Given the description of an element on the screen output the (x, y) to click on. 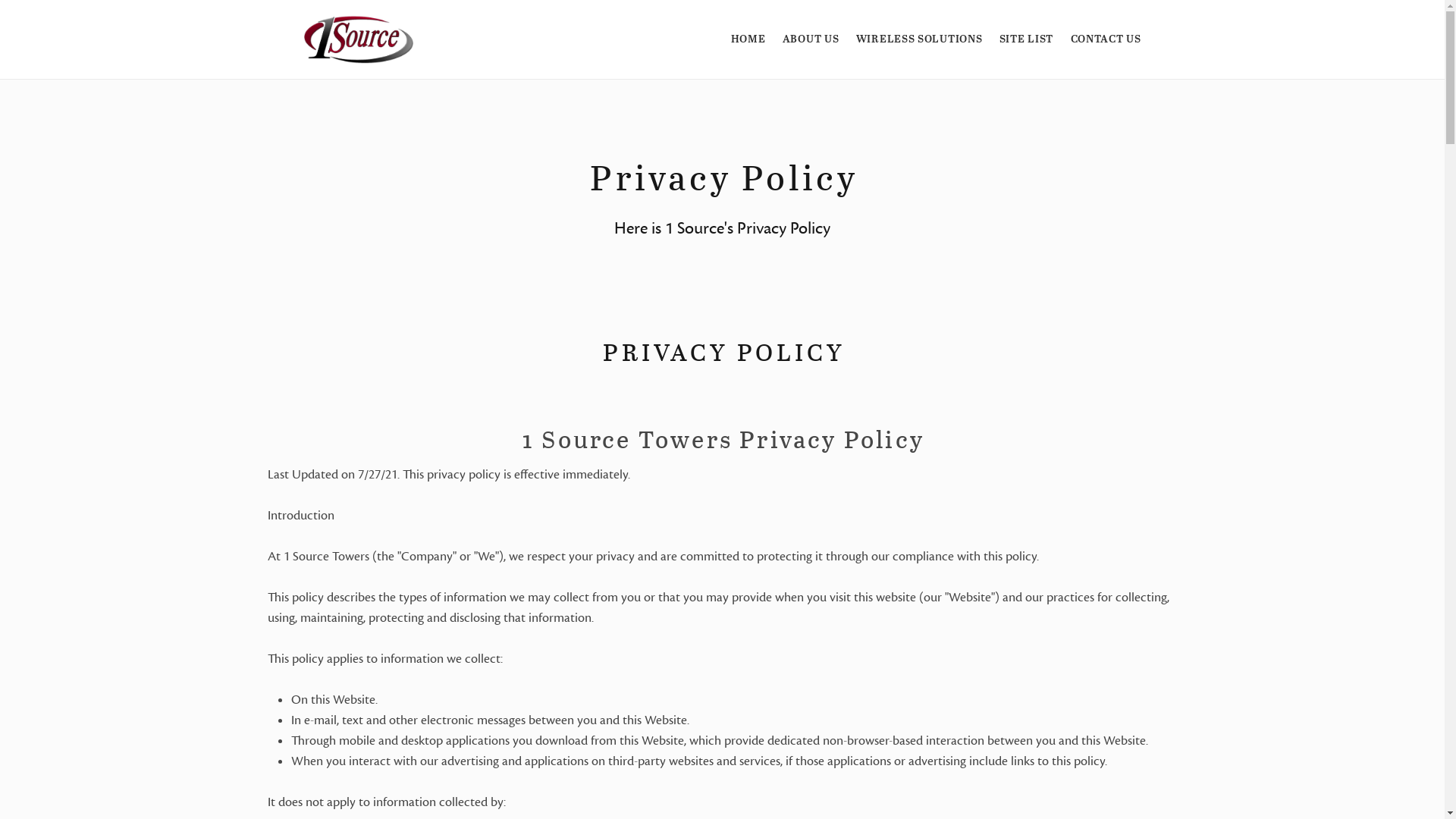
CONTACT US Element type: text (1105, 39)
SITE LIST Element type: text (1026, 39)
WIRELESS SOLUTIONS Element type: text (919, 39)
HOME Element type: text (748, 39)
1 Source Towers Element type: hover (357, 39)
ABOUT US Element type: text (810, 39)
